Given the description of an element on the screen output the (x, y) to click on. 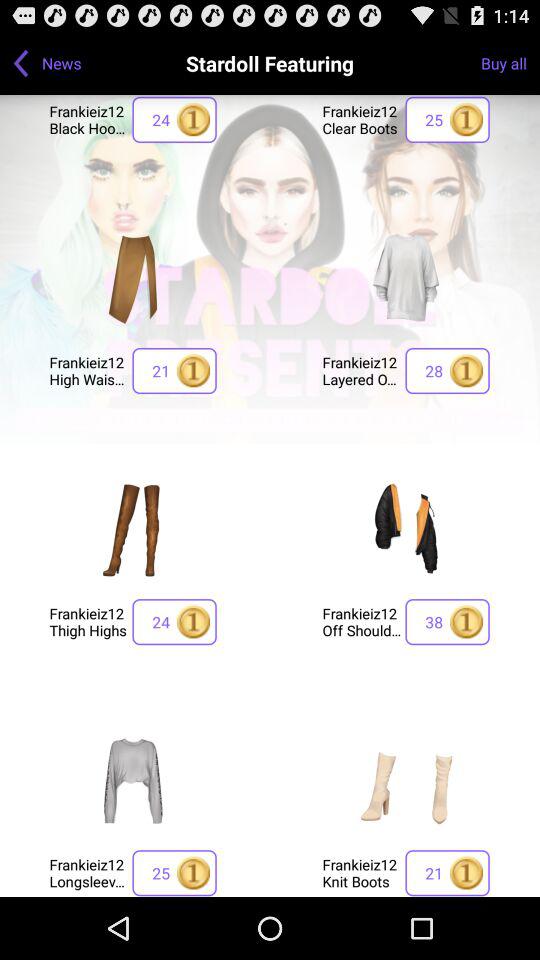
product image (133, 780)
